Given the description of an element on the screen output the (x, y) to click on. 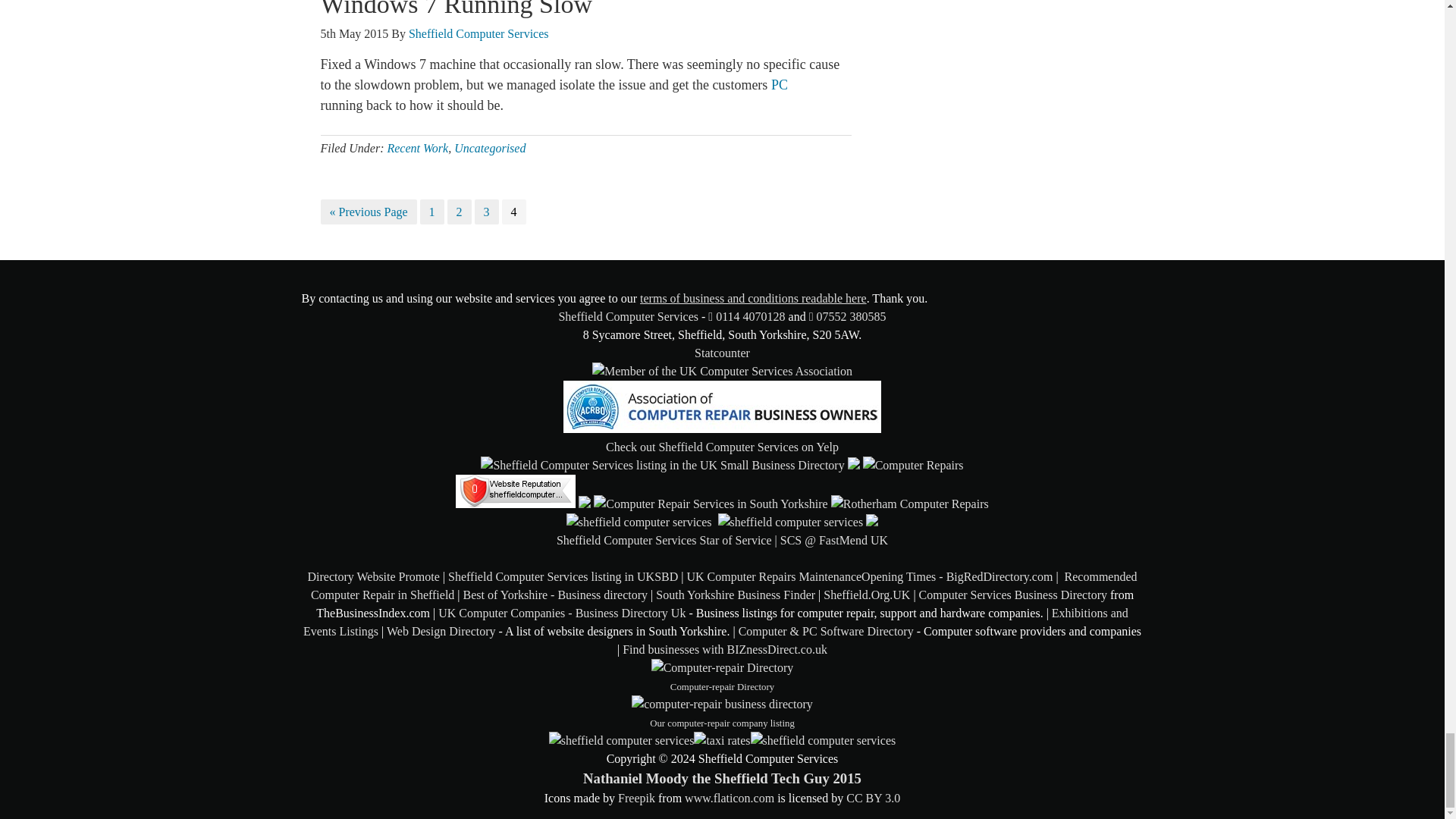
Member of The UKCSA (721, 371)
